Given the description of an element on the screen output the (x, y) to click on. 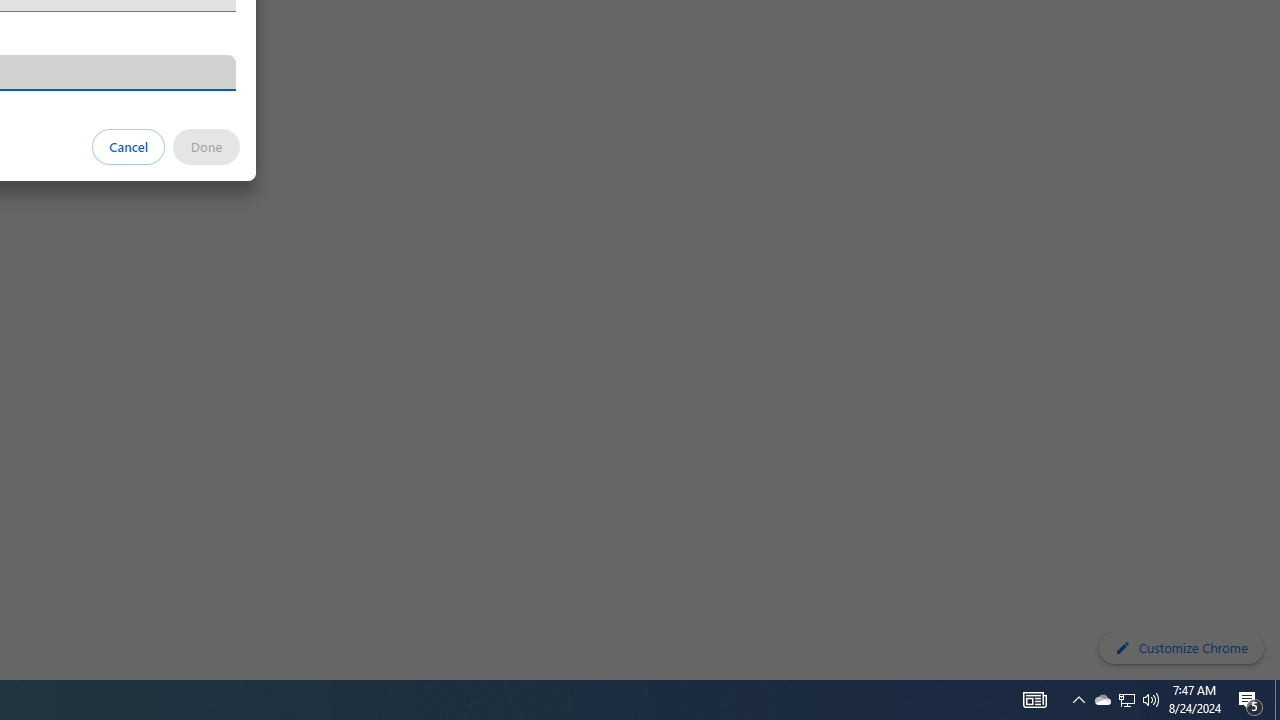
Cancel (129, 146)
Done (206, 146)
